Given the description of an element on the screen output the (x, y) to click on. 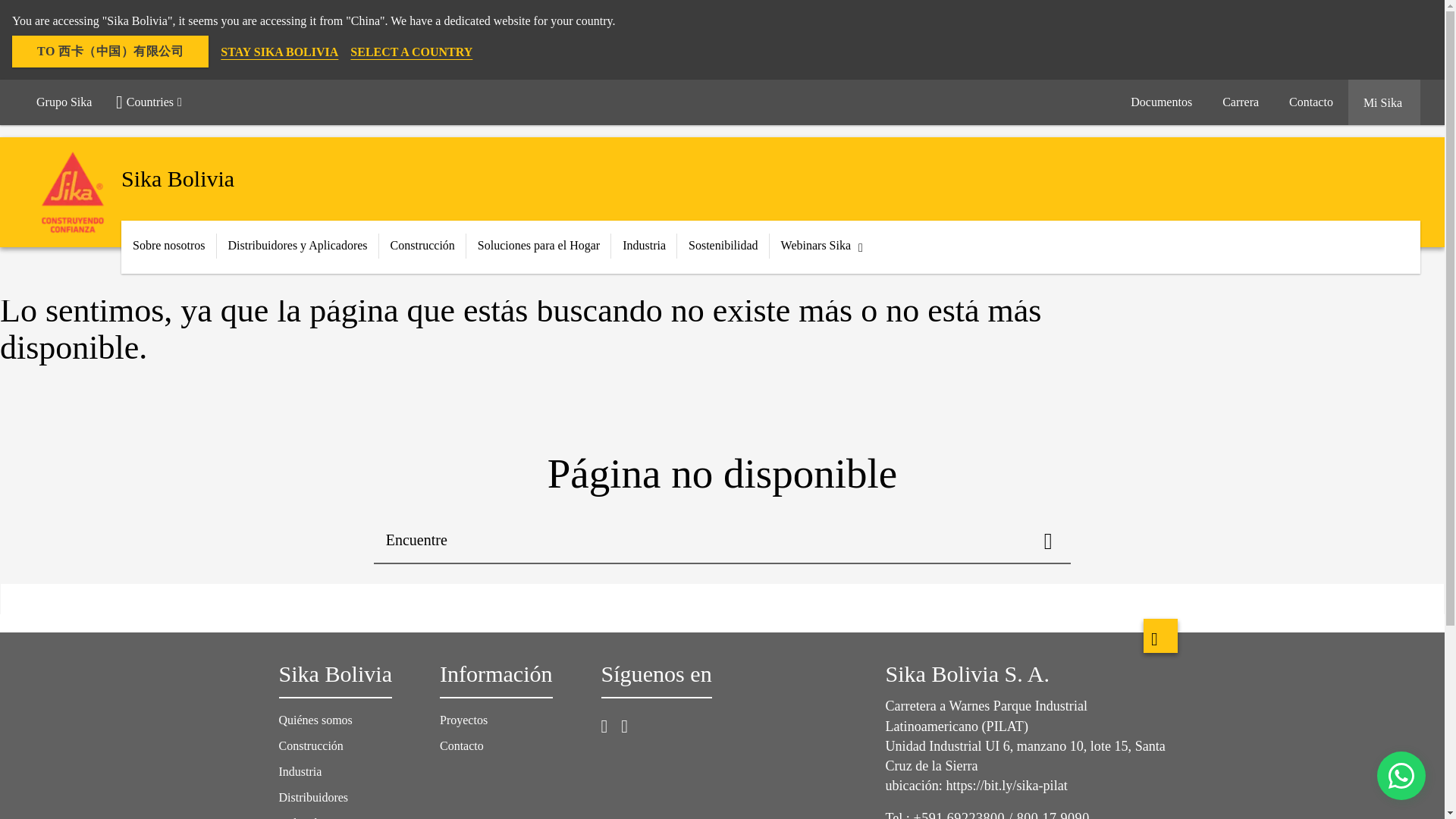
Grupo Sika (63, 102)
Documentos (1161, 102)
STAY SIKA BOLIVIA (279, 51)
Contacto (1311, 102)
Carrera (1240, 102)
Mi Sika  (1384, 102)
SELECT A COUNTRY (410, 51)
Countries (155, 102)
